Given the description of an element on the screen output the (x, y) to click on. 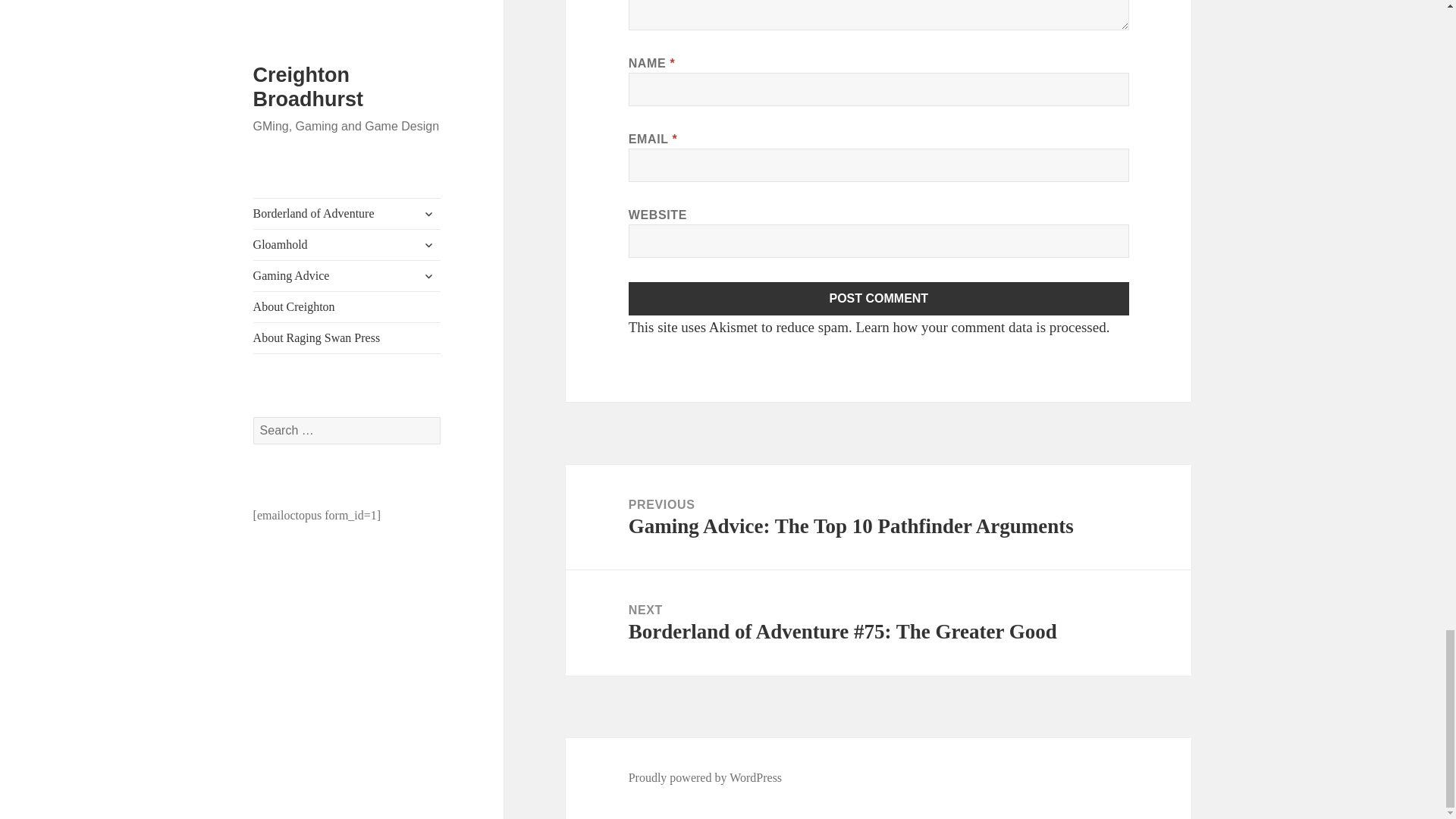
Post Comment (878, 298)
Post Comment (878, 298)
Proudly powered by WordPress (704, 777)
Learn how your comment data is processed (980, 326)
